Given the description of an element on the screen output the (x, y) to click on. 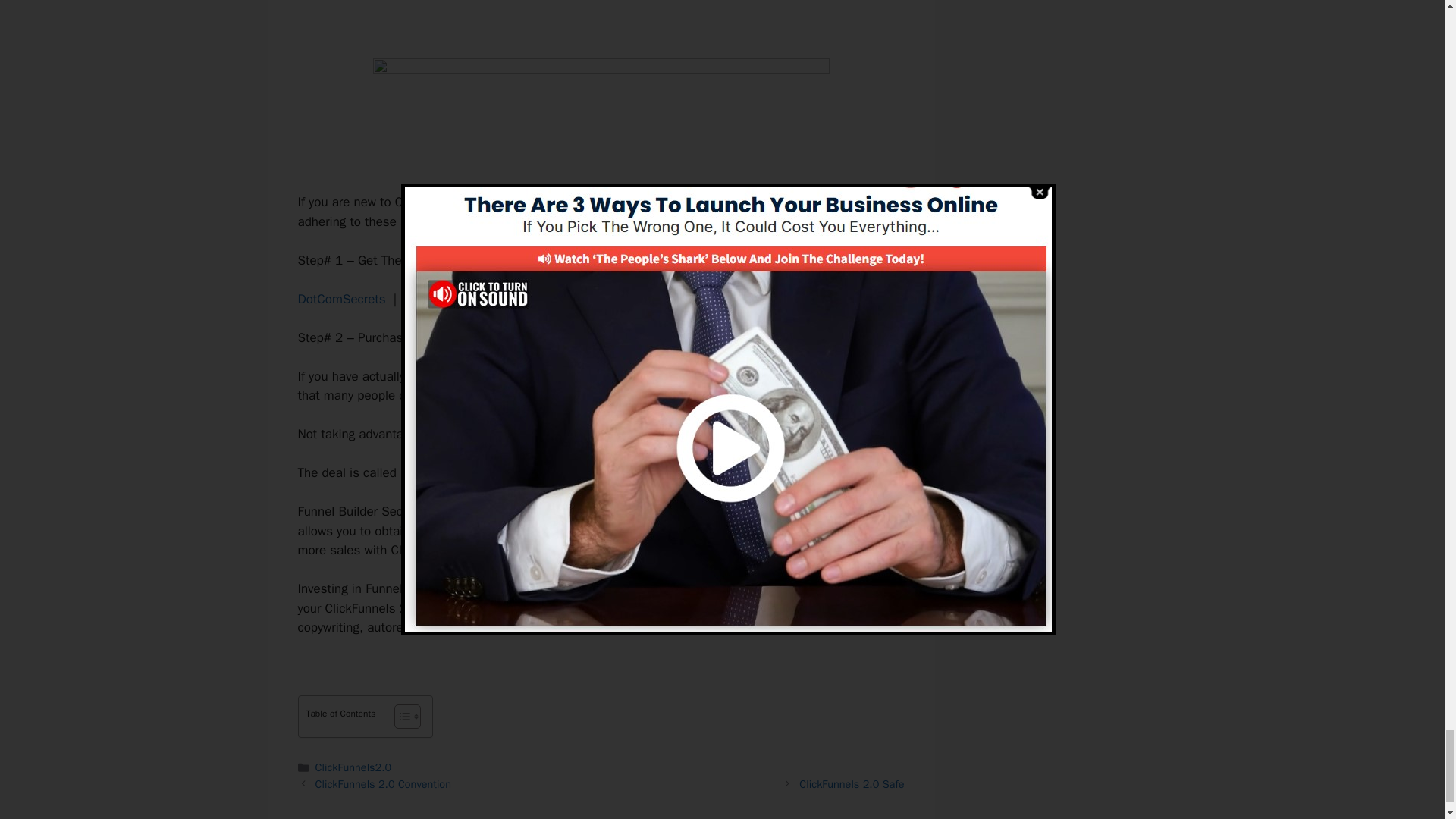
DotComSecrets (341, 299)
ClickFunnels 2.0 (542, 376)
Funnel Builder Secrets (463, 472)
Expert Secrets (445, 299)
Traffic Secrets (545, 299)
